Given the description of an element on the screen output the (x, y) to click on. 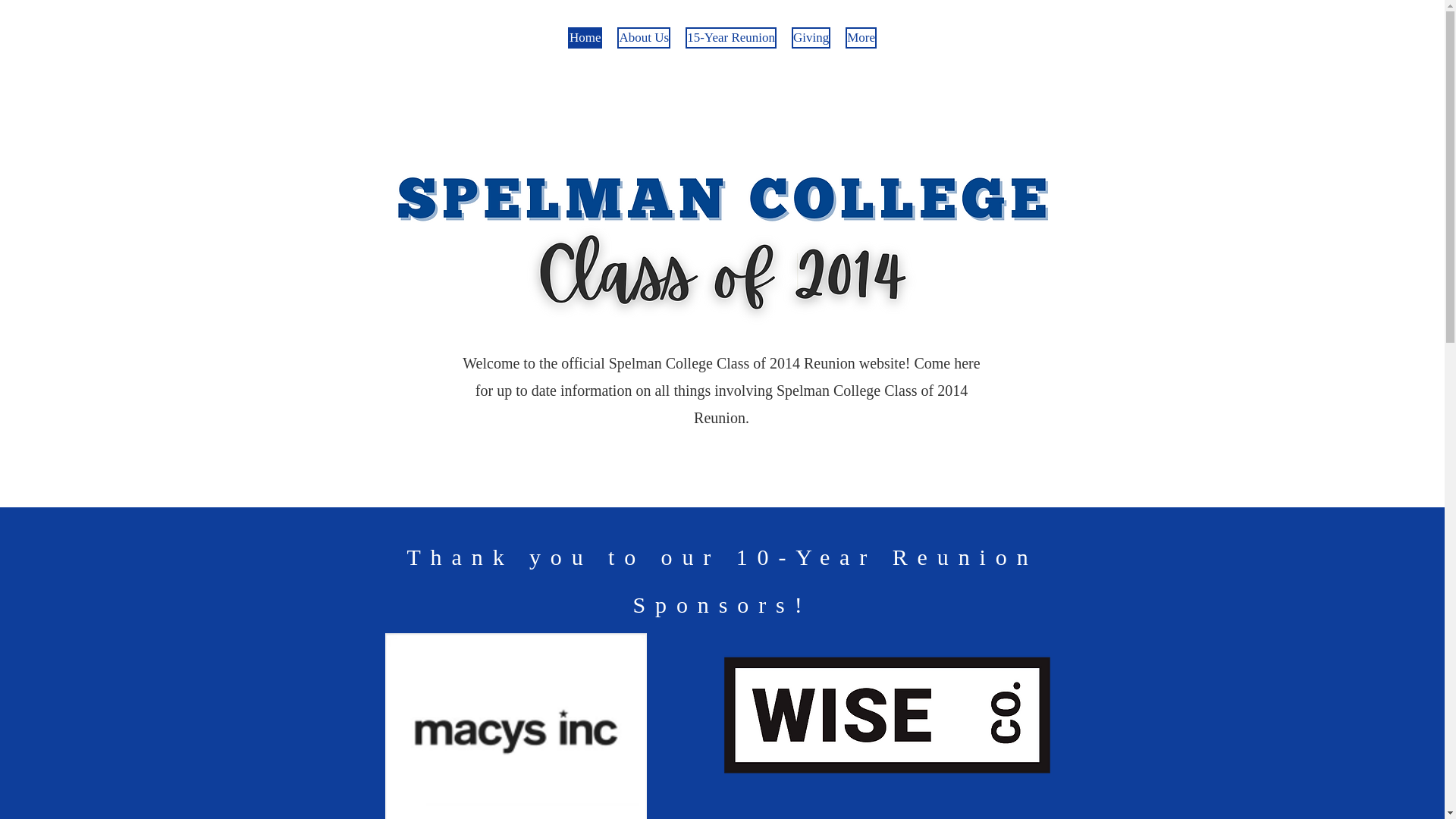
About Us (643, 51)
15-Year Reunion (730, 51)
Wise Co logo.png (886, 714)
Class of 2014 Header.png (721, 243)
